Given the description of an element on the screen output the (x, y) to click on. 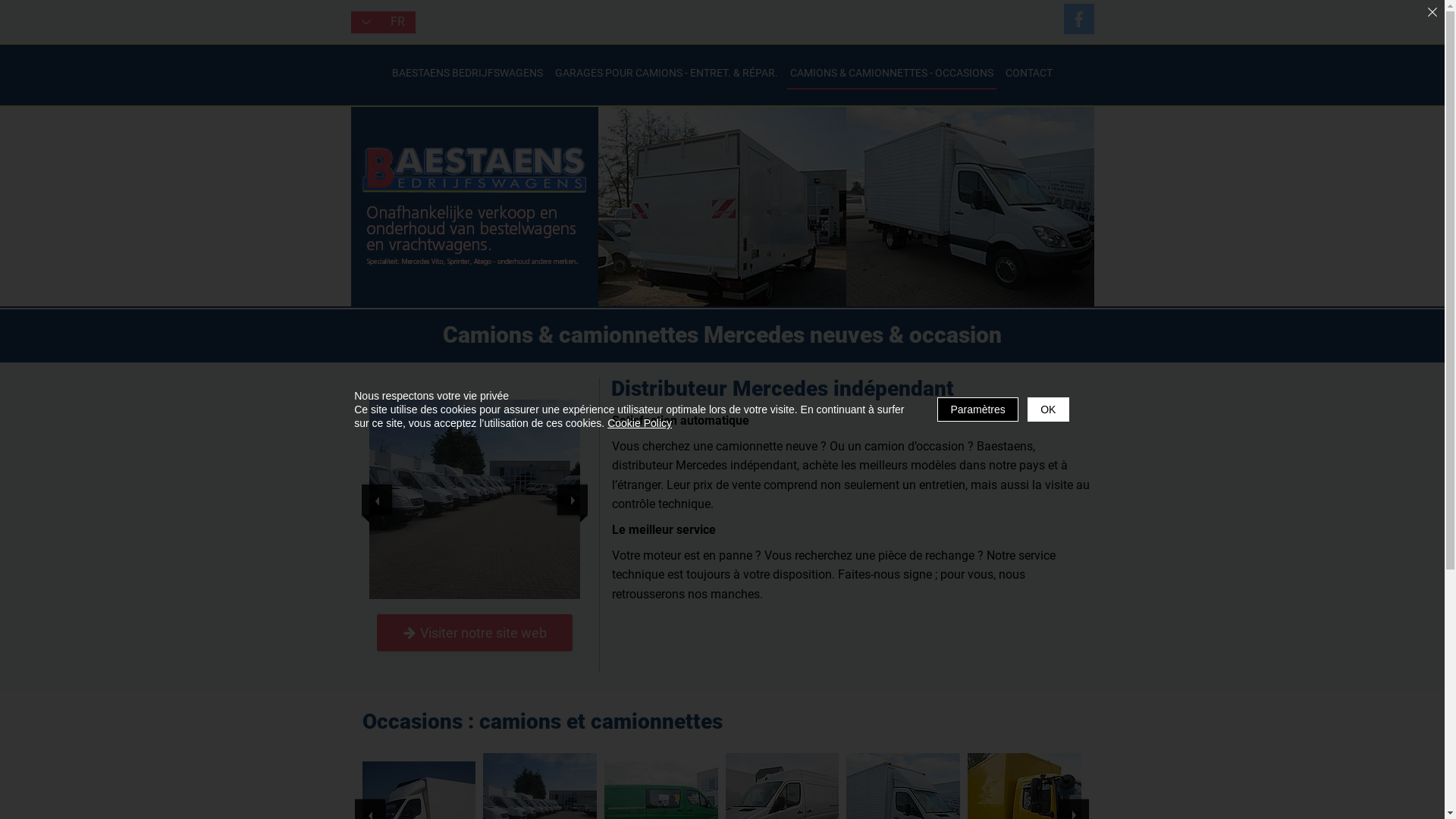
OK Element type: text (1048, 409)
CAMIONS & CAMIONNETTES - OCCASIONS Element type: text (891, 72)
Cookie Policy Element type: text (639, 423)
Visiter notre site web Element type: text (473, 632)
BAESTAENS BEDRIJFSWAGENS Element type: text (467, 72)
CONTACT Element type: text (1028, 72)
